Given the description of an element on the screen output the (x, y) to click on. 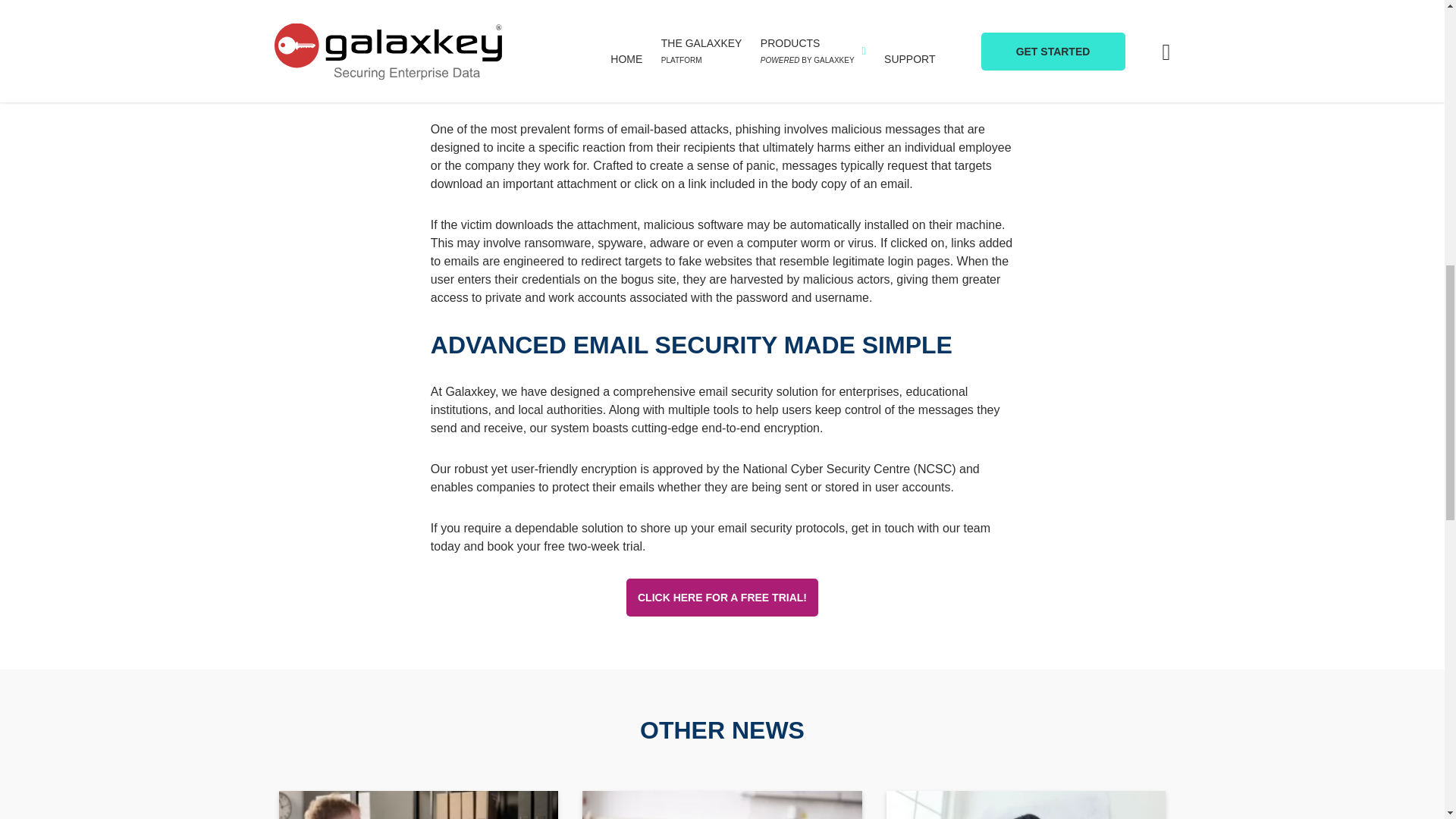
CLICK HERE FOR A FREE TRIAL! (722, 597)
How to Reduce Cyber Insurance Costs 3 (1026, 805)
